Given the description of an element on the screen output the (x, y) to click on. 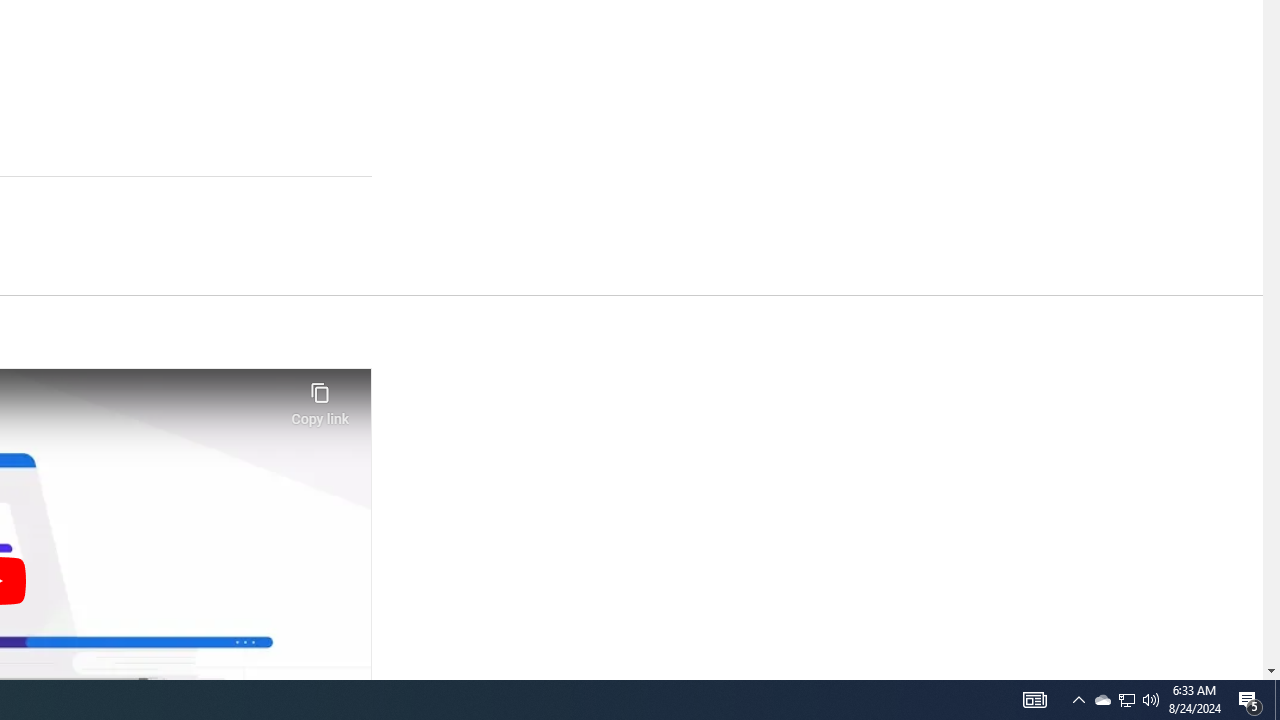
Copy link (319, 398)
